Given the description of an element on the screen output the (x, y) to click on. 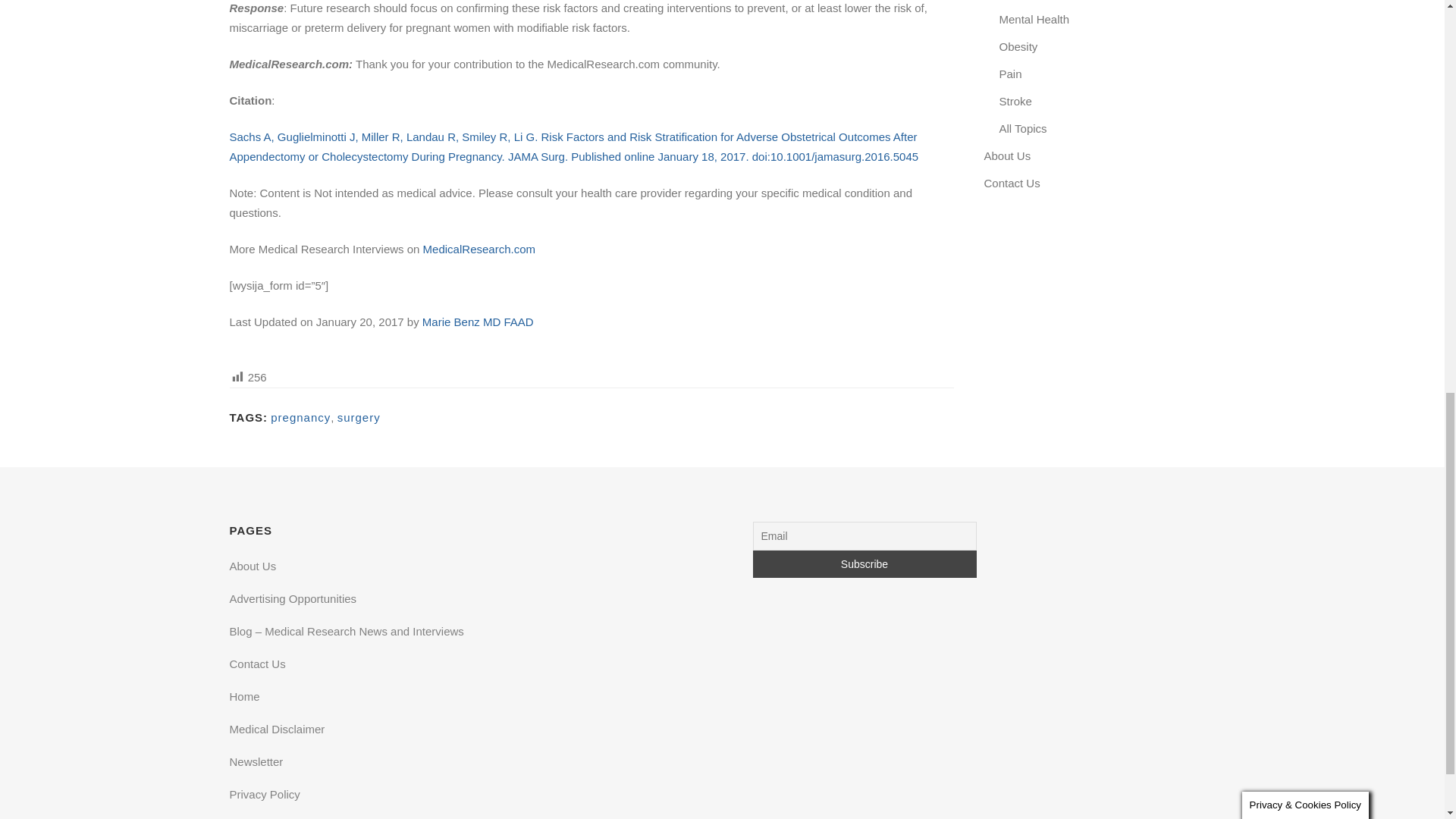
Subscribe (863, 564)
